Given the description of an element on the screen output the (x, y) to click on. 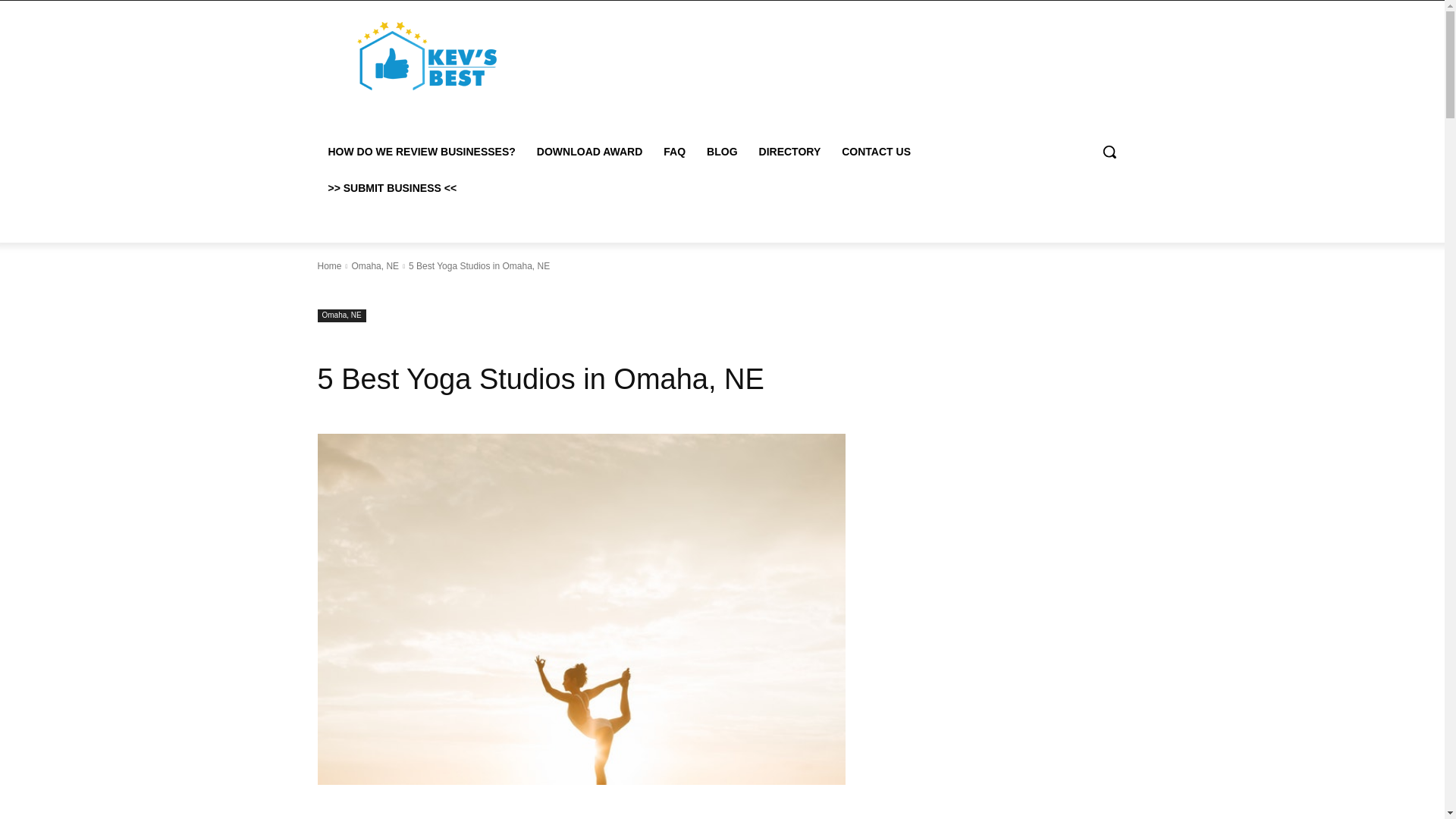
CONTACT US (876, 151)
View all posts in Omaha, NE (374, 266)
DIRECTORY (789, 151)
HOW DO WE REVIEW BUSINESSES? (421, 151)
Home (328, 266)
DOWNLOAD AWARD (588, 151)
Omaha, NE (341, 315)
FAQ (673, 151)
Omaha, NE (374, 266)
